Given the description of an element on the screen output the (x, y) to click on. 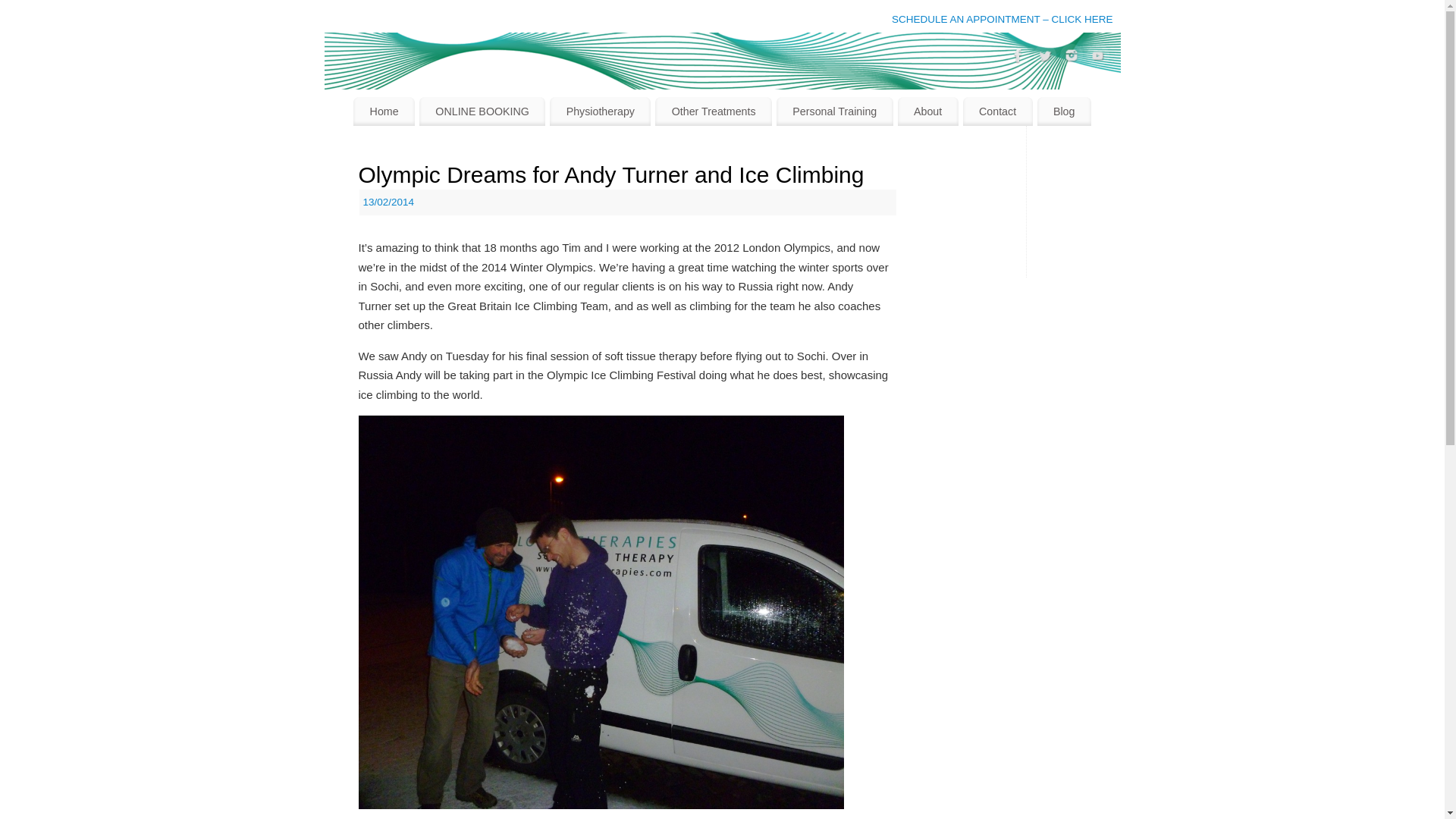
1:26 pm (387, 202)
Personal Training (834, 111)
Physiotherapy (600, 111)
Other Treatments (713, 111)
Home (383, 111)
ONLINE BOOKING (481, 111)
